Given the description of an element on the screen output the (x, y) to click on. 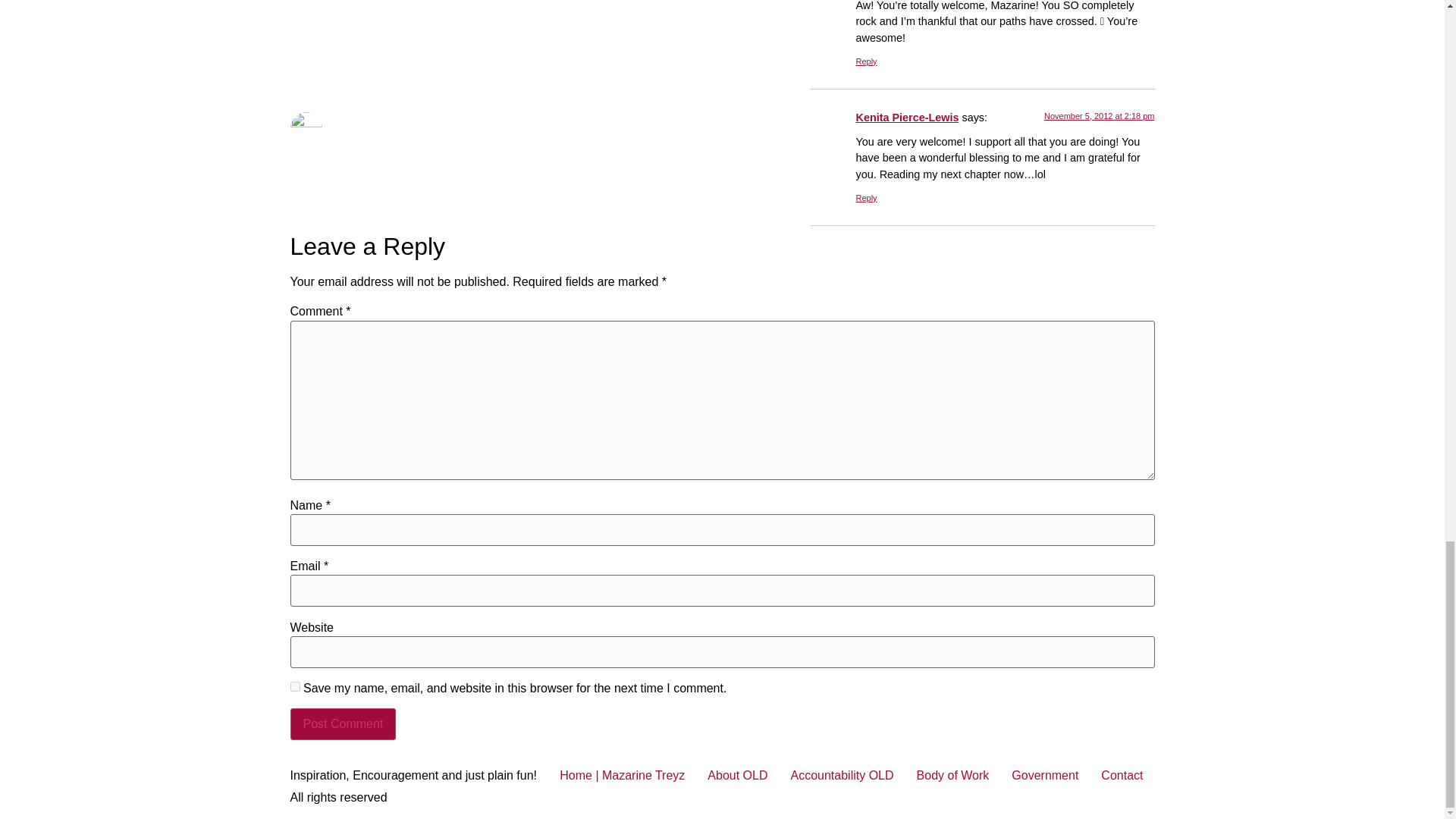
browserstats (543, 47)
Post Comment (342, 724)
yes (294, 686)
